Given the description of an element on the screen output the (x, y) to click on. 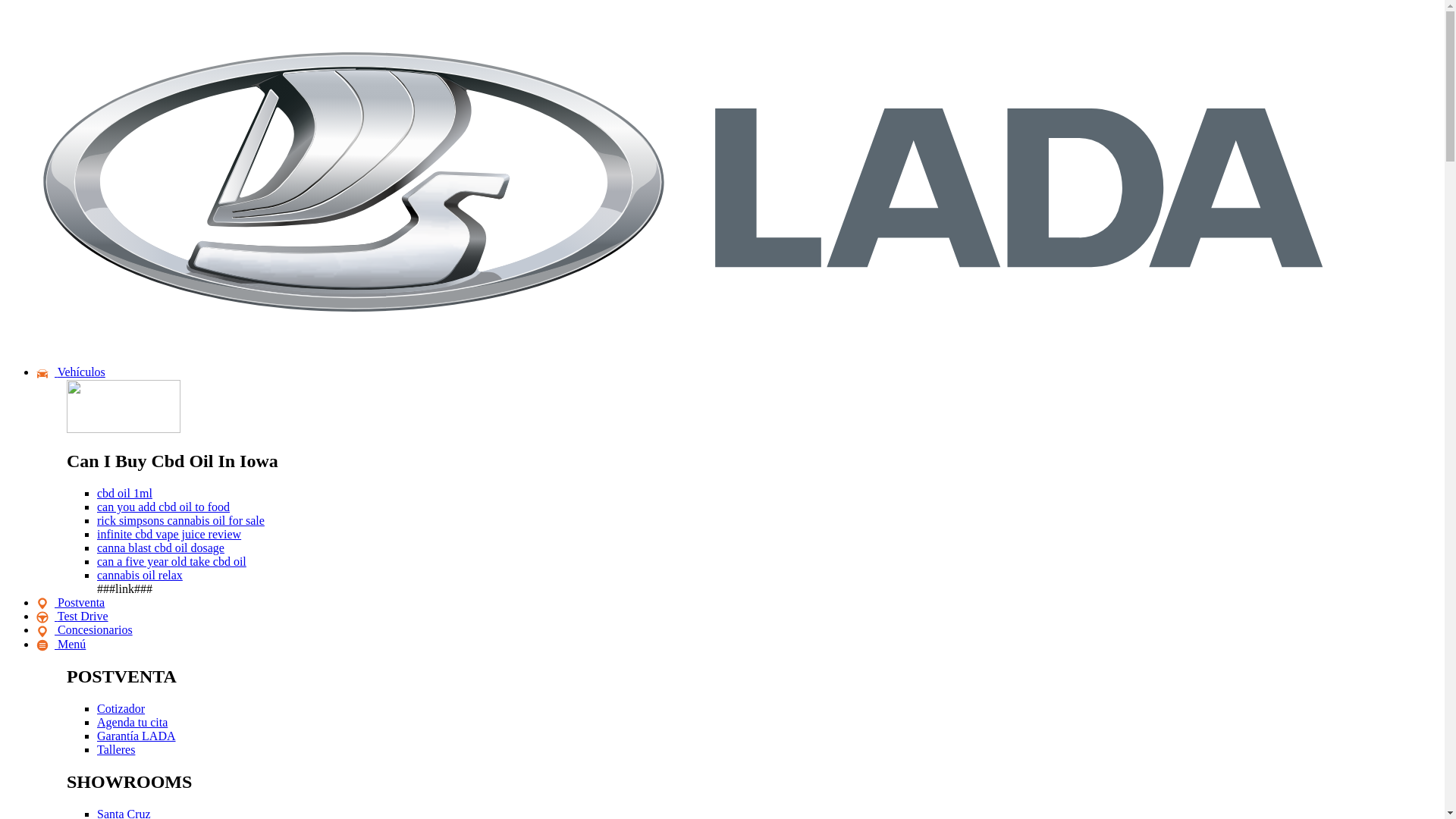
Santa Cruz (124, 813)
Talleres (116, 748)
can a five year old take cbd oil (171, 561)
Concesionarios (84, 629)
Cotizador (120, 707)
infinite cbd vape juice review (169, 533)
rick simpsons cannabis oil for sale (180, 520)
Test Drive (71, 615)
cbd oil 1ml (124, 492)
can you add cbd oil to food (163, 506)
